Given the description of an element on the screen output the (x, y) to click on. 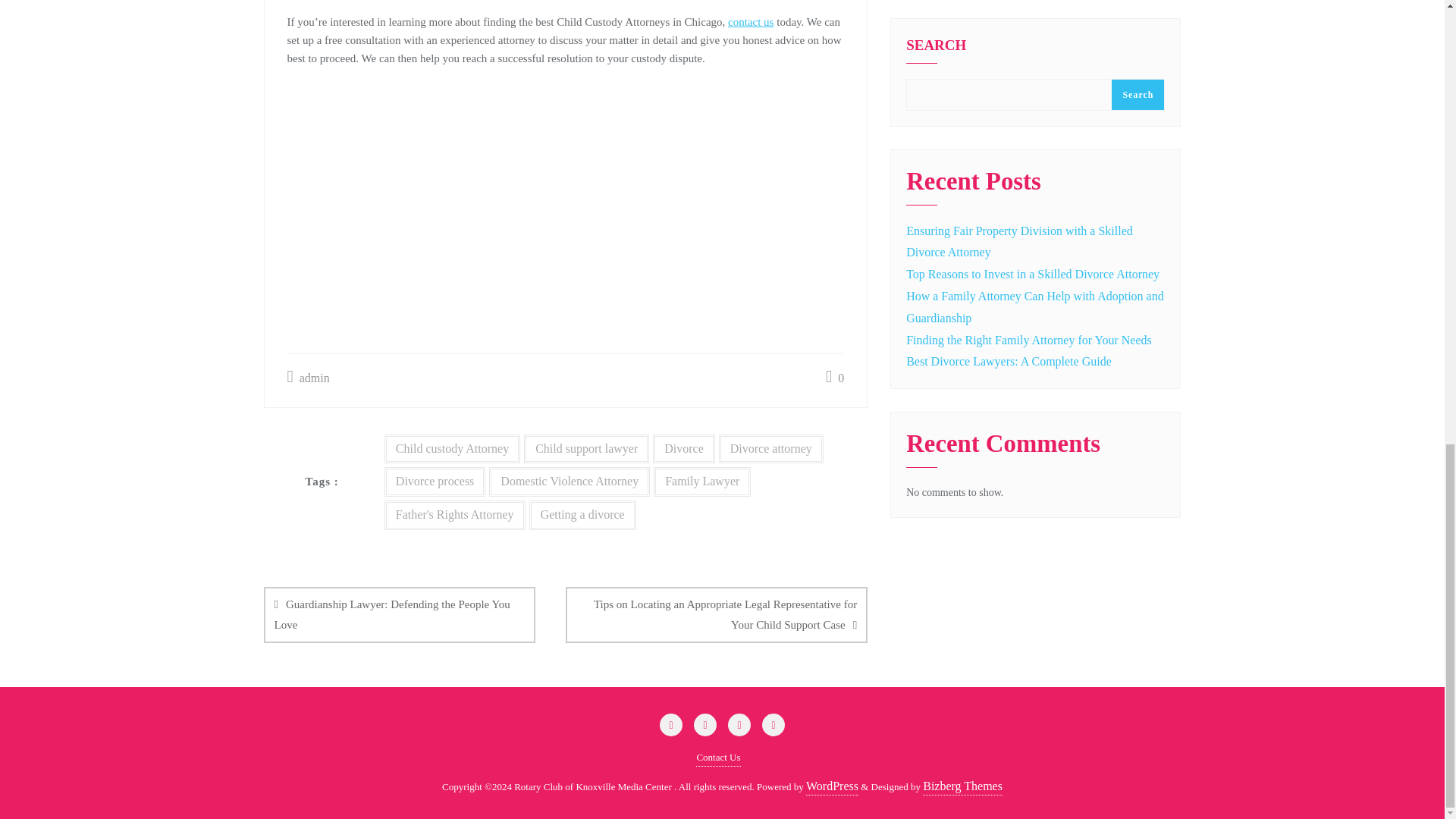
Family Lawyer (702, 481)
Father's Rights Attorney (454, 514)
Domestic Violence Attorney (569, 481)
admin (307, 378)
Divorce process (435, 481)
Child support lawyer (586, 449)
Divorce attorney (771, 449)
Guardianship Lawyer: Defending the People You Love (399, 614)
Getting a divorce (582, 514)
